Given the description of an element on the screen output the (x, y) to click on. 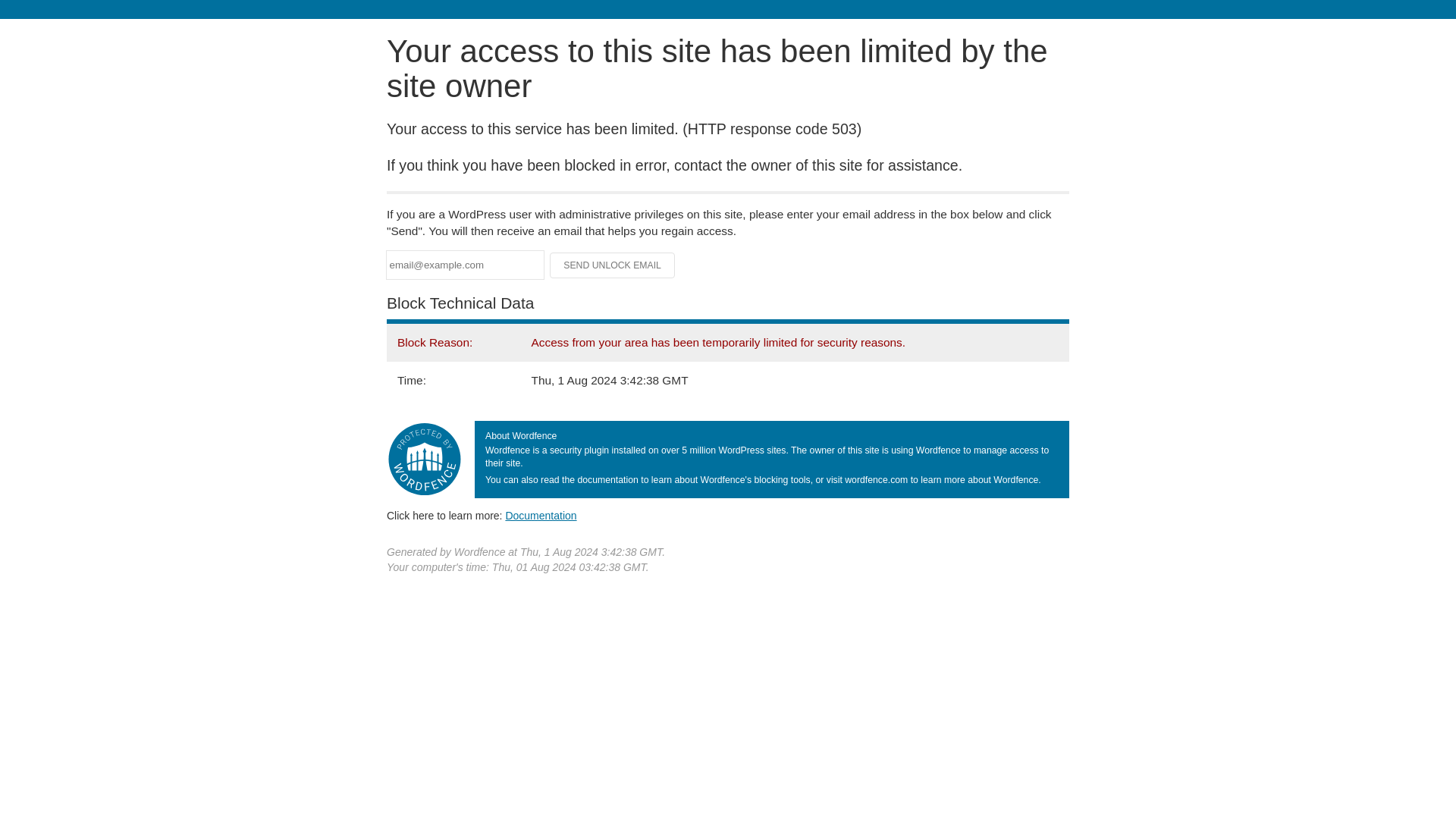
Send Unlock Email (612, 265)
Documentation (540, 515)
Send Unlock Email (612, 265)
